Given the description of an element on the screen output the (x, y) to click on. 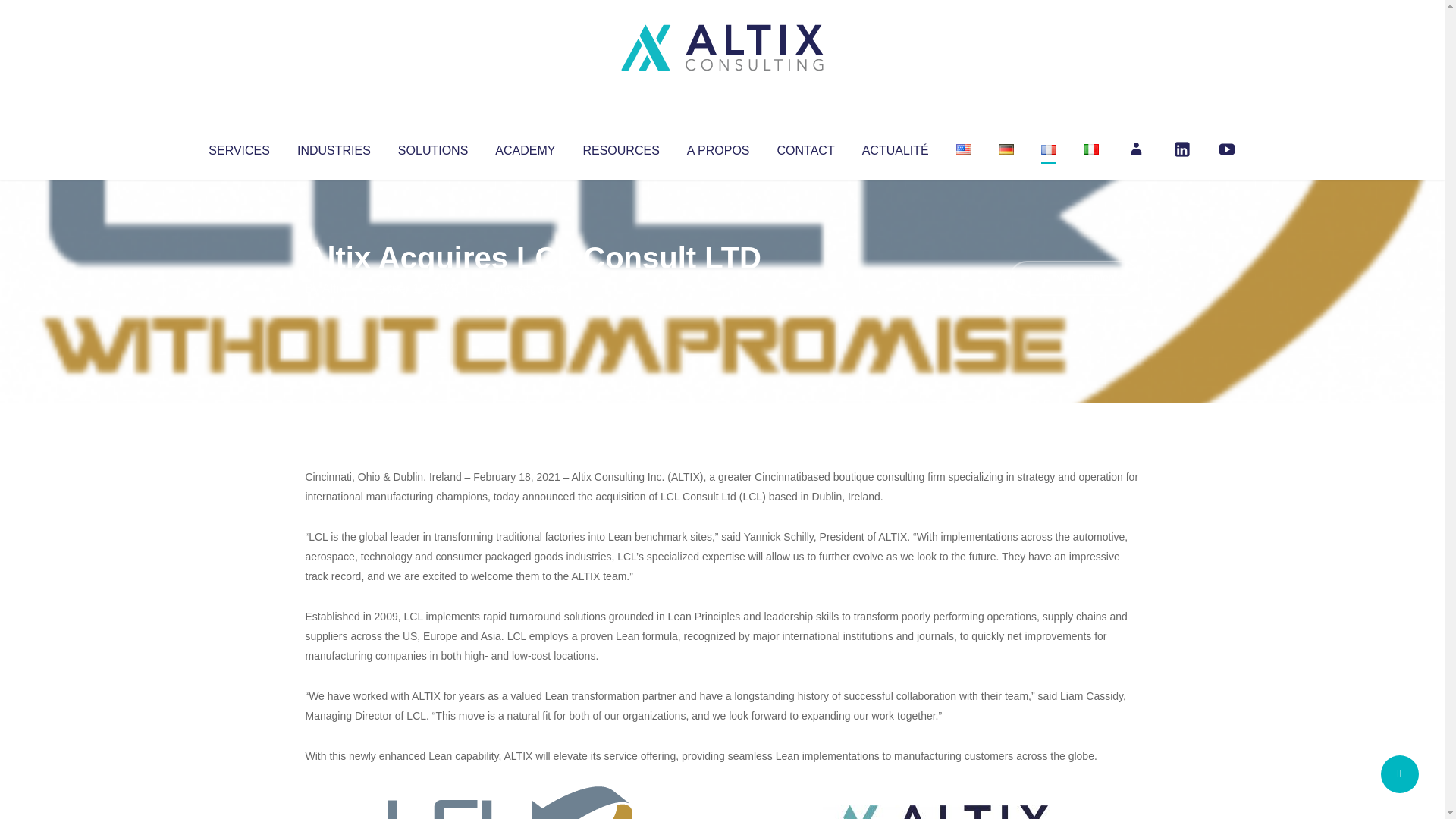
A PROPOS (718, 146)
ACADEMY (524, 146)
INDUSTRIES (334, 146)
Articles par Altix (333, 287)
Altix (333, 287)
SERVICES (238, 146)
No Comments (1073, 278)
SOLUTIONS (432, 146)
RESOURCES (620, 146)
Uncategorized (530, 287)
